Given the description of an element on the screen output the (x, y) to click on. 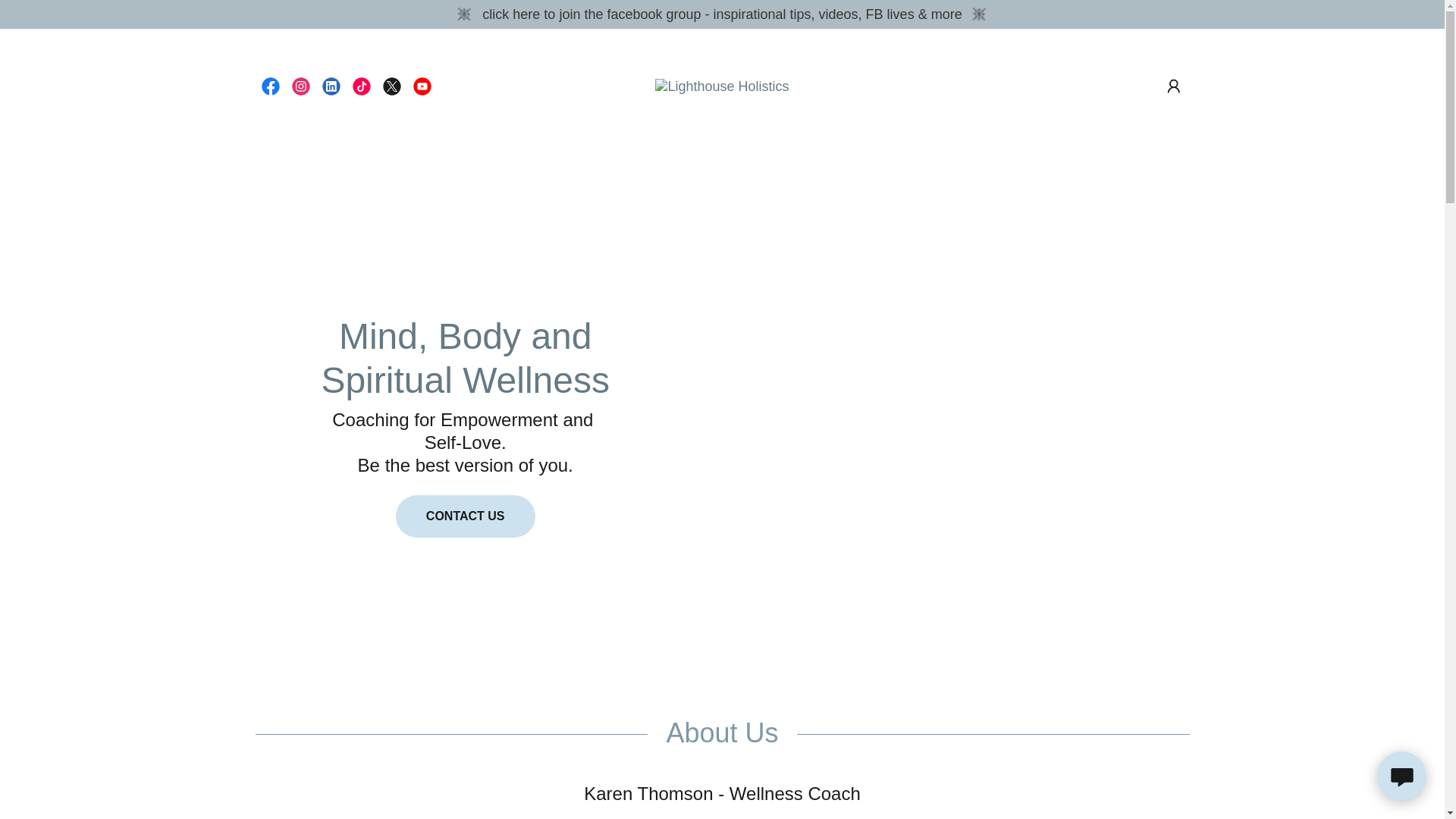
CONTACT US Element type: text (465, 516)
Lighthouse Holistics Element type: hover (721, 85)
